Given the description of an element on the screen output the (x, y) to click on. 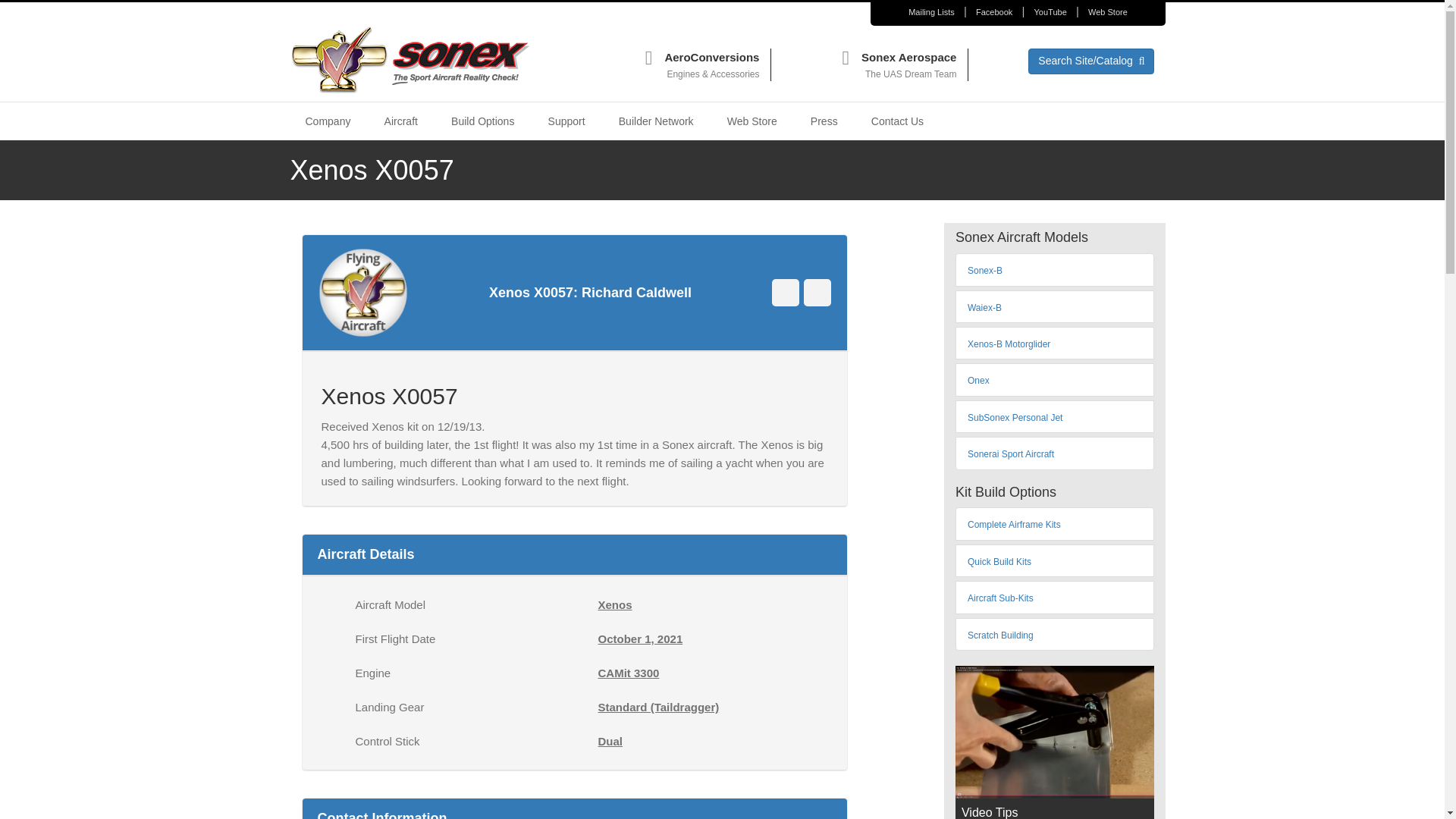
Mailing Lists (931, 13)
YouTube (1050, 13)
Facebook (993, 13)
Web Store (1107, 13)
